Given the description of an element on the screen output the (x, y) to click on. 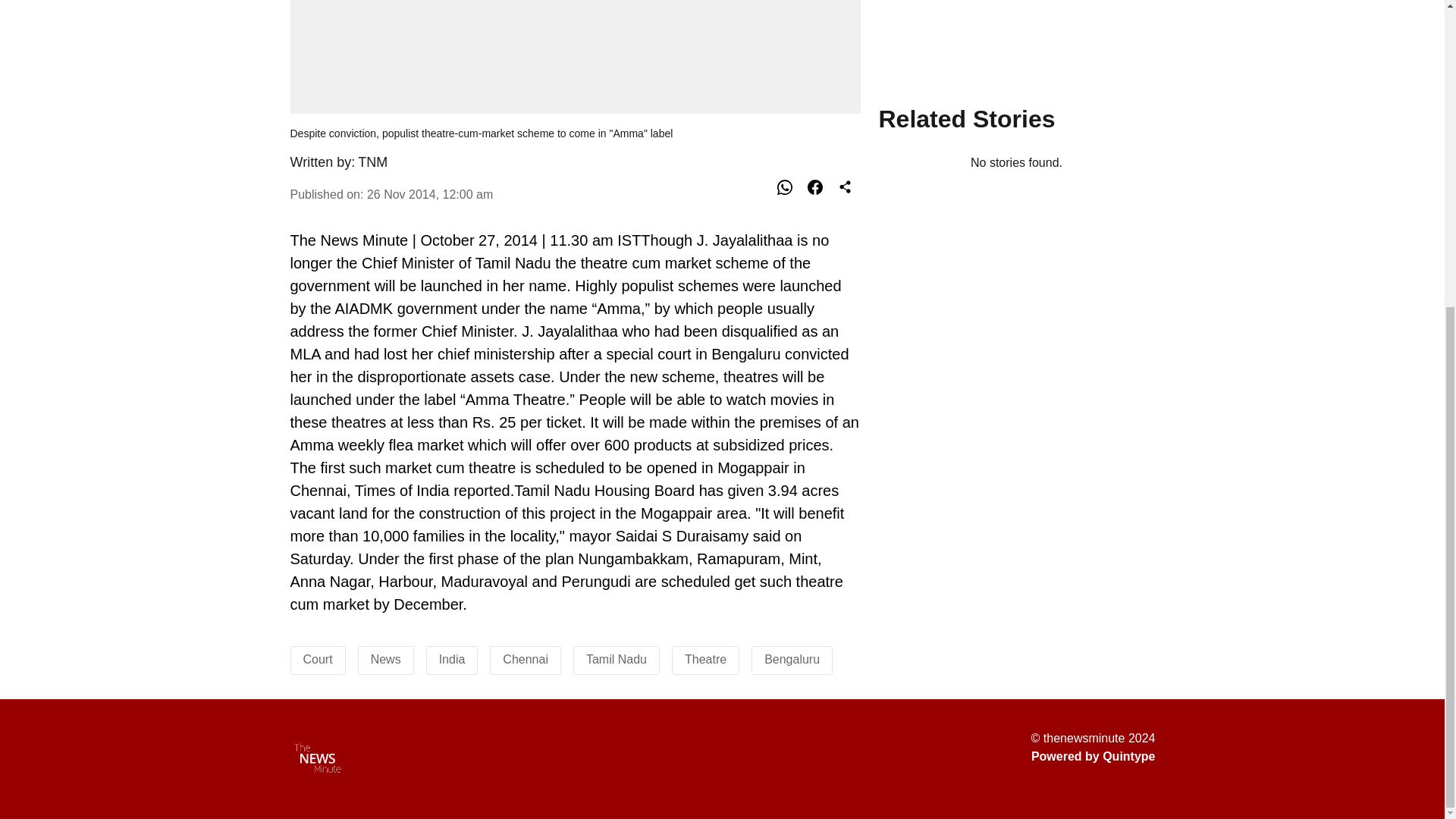
India (452, 658)
Chennai (525, 658)
TNM (372, 161)
Theatre (705, 658)
News (386, 658)
Tamil Nadu (616, 658)
Court (317, 658)
Bengaluru (791, 658)
Powered by Quintype (1093, 756)
2014-11-26 00:00 (429, 194)
